Given the description of an element on the screen output the (x, y) to click on. 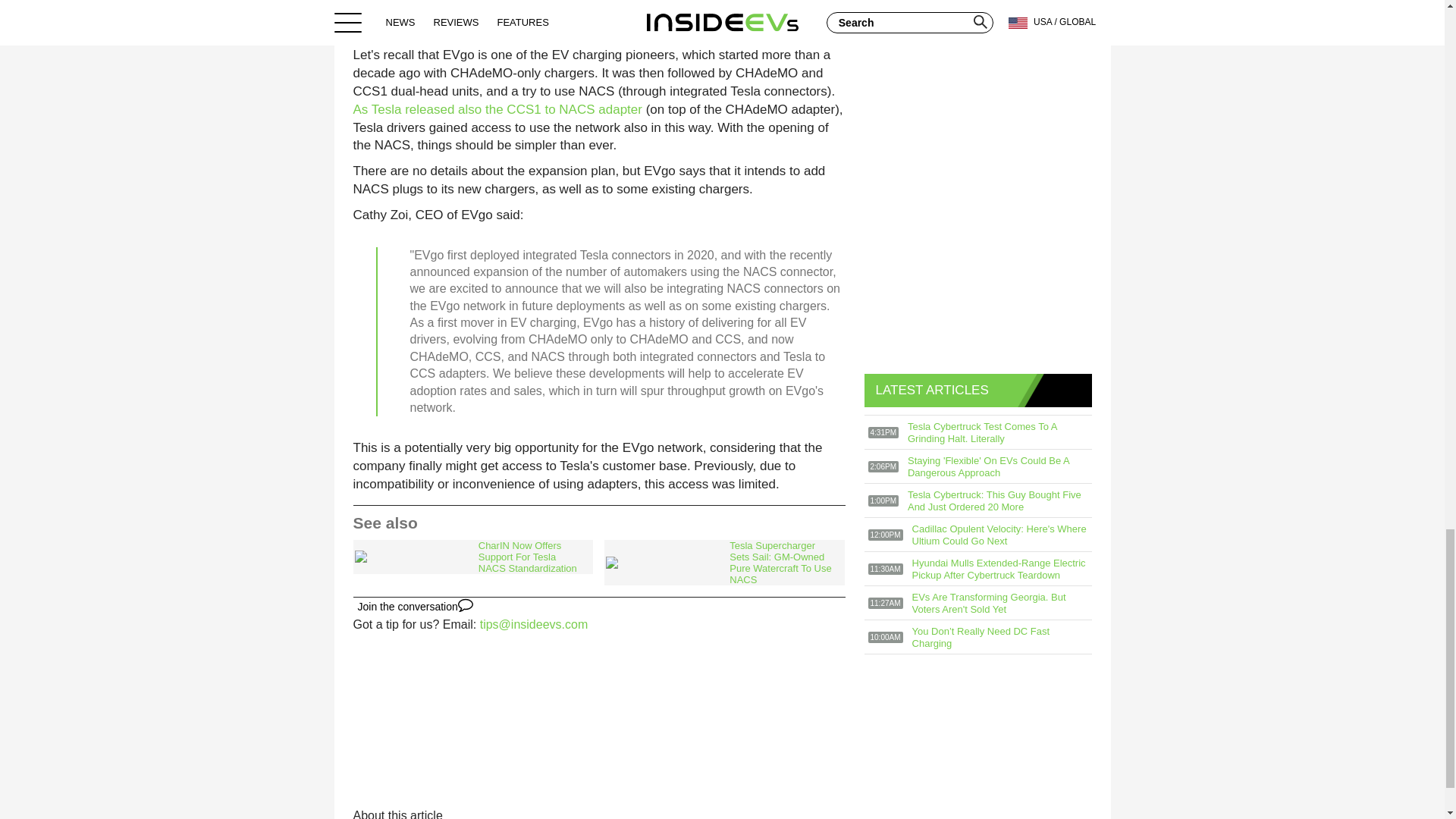
Join the conversation (415, 606)
CharIN Now Offers Support For Tesla NACS Standardization (473, 556)
As Tesla released also the CCS1 to NACS adapter (497, 109)
